Given the description of an element on the screen output the (x, y) to click on. 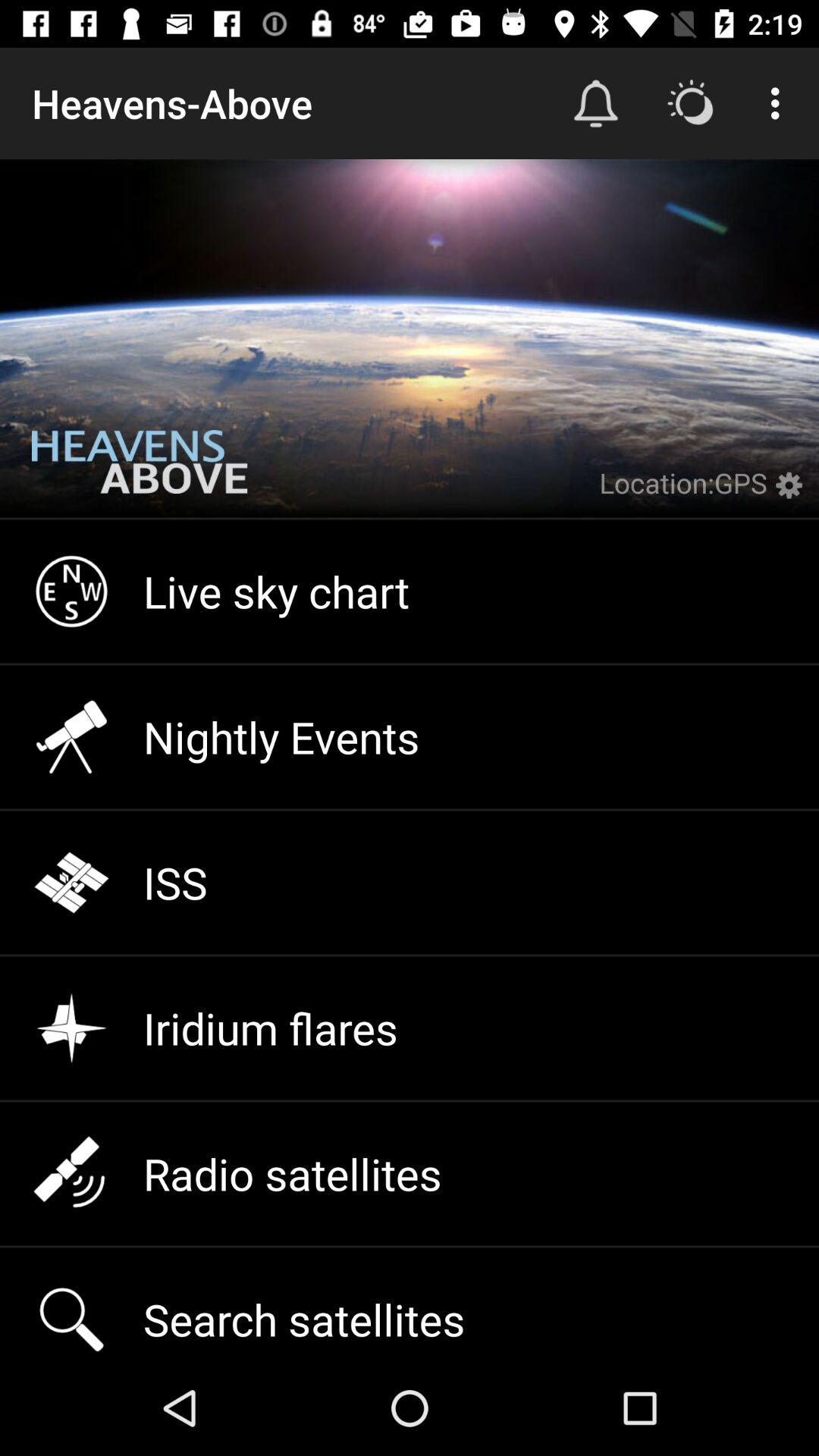
turn on iss item (409, 882)
